Given the description of an element on the screen output the (x, y) to click on. 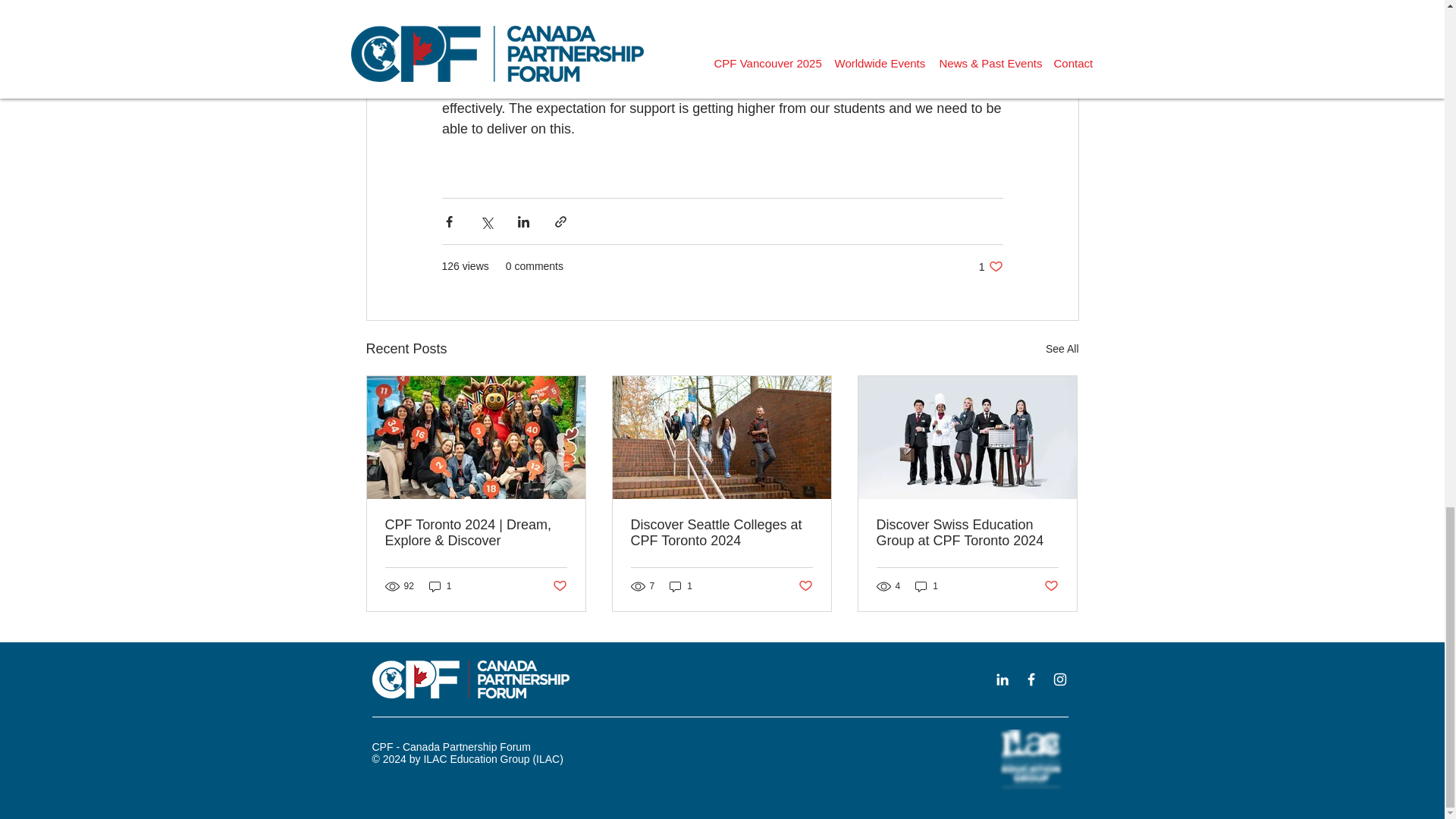
1 (681, 586)
Discover Swiss Education Group at CPF Toronto 2024 (967, 532)
Post not marked as liked (804, 585)
1 (990, 266)
Post not marked as liked (440, 586)
Post not marked as liked (558, 585)
Discover Seattle Colleges at CPF Toronto 2024 (1050, 585)
See All (721, 532)
1 (1061, 349)
